Given the description of an element on the screen output the (x, y) to click on. 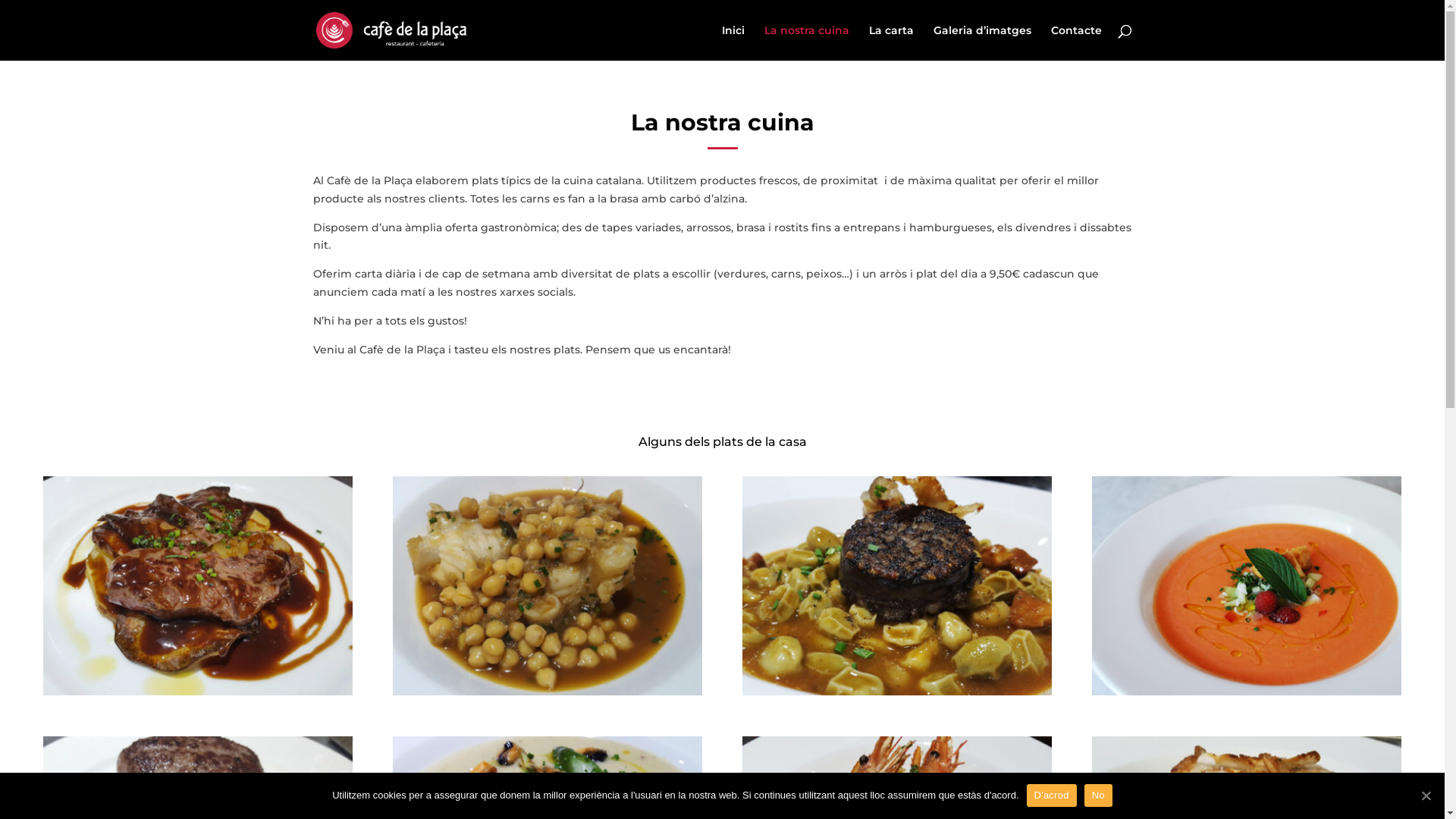
gaspatxo Element type: hover (1246, 691)
carn-salsa Element type: hover (197, 691)
No Element type: text (1098, 795)
Contacte Element type: text (1076, 42)
La carta Element type: text (891, 42)
cigrons-peix Element type: hover (546, 691)
D'acrod Element type: text (1051, 795)
La nostra cuina Element type: text (806, 42)
Inici Element type: text (732, 42)
fabes-botifarra-negre Element type: hover (896, 691)
